Given the description of an element on the screen output the (x, y) to click on. 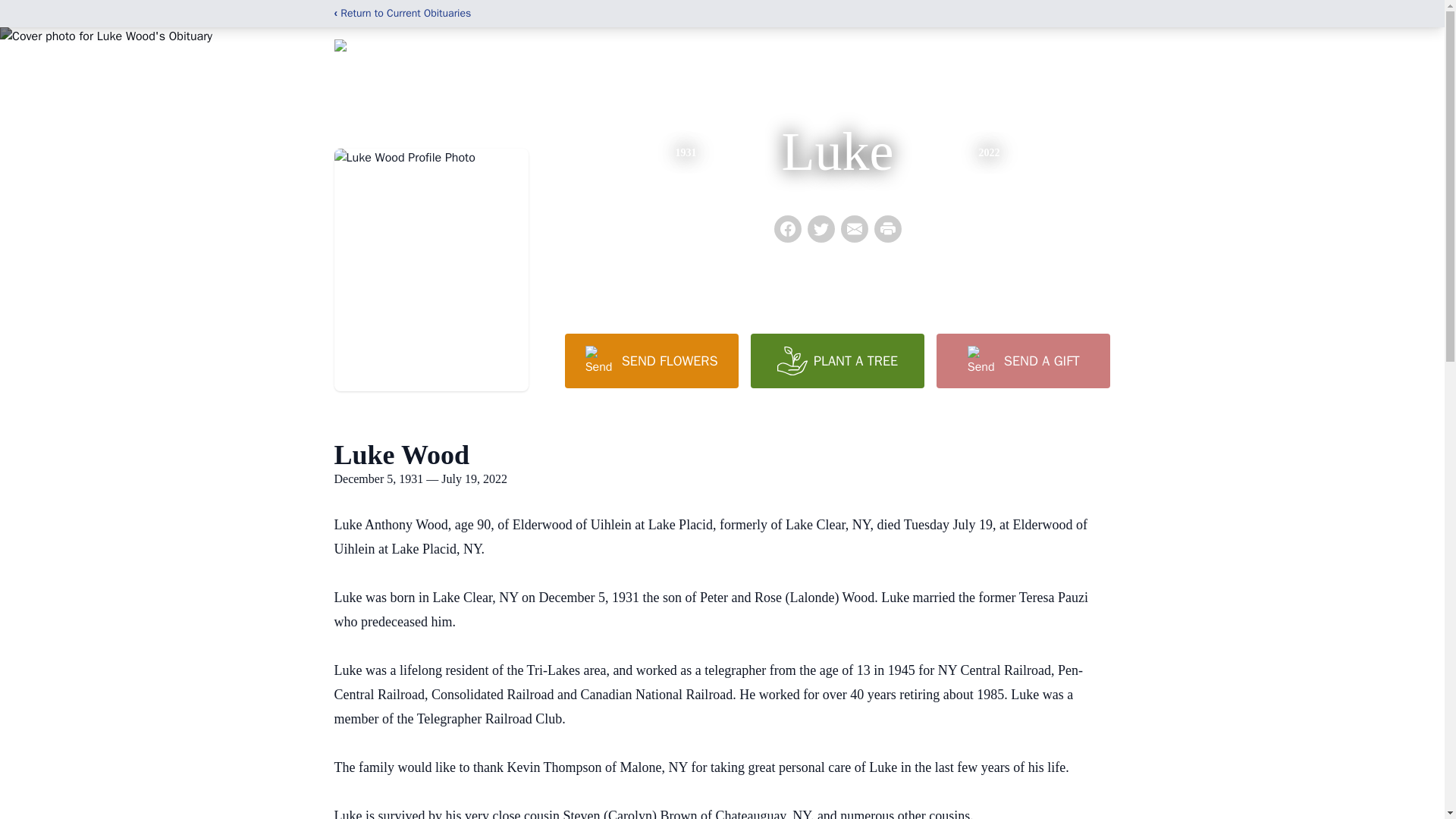
PLANT A TREE (837, 360)
SEND A GIFT (1022, 360)
SEND FLOWERS (651, 360)
